Given the description of an element on the screen output the (x, y) to click on. 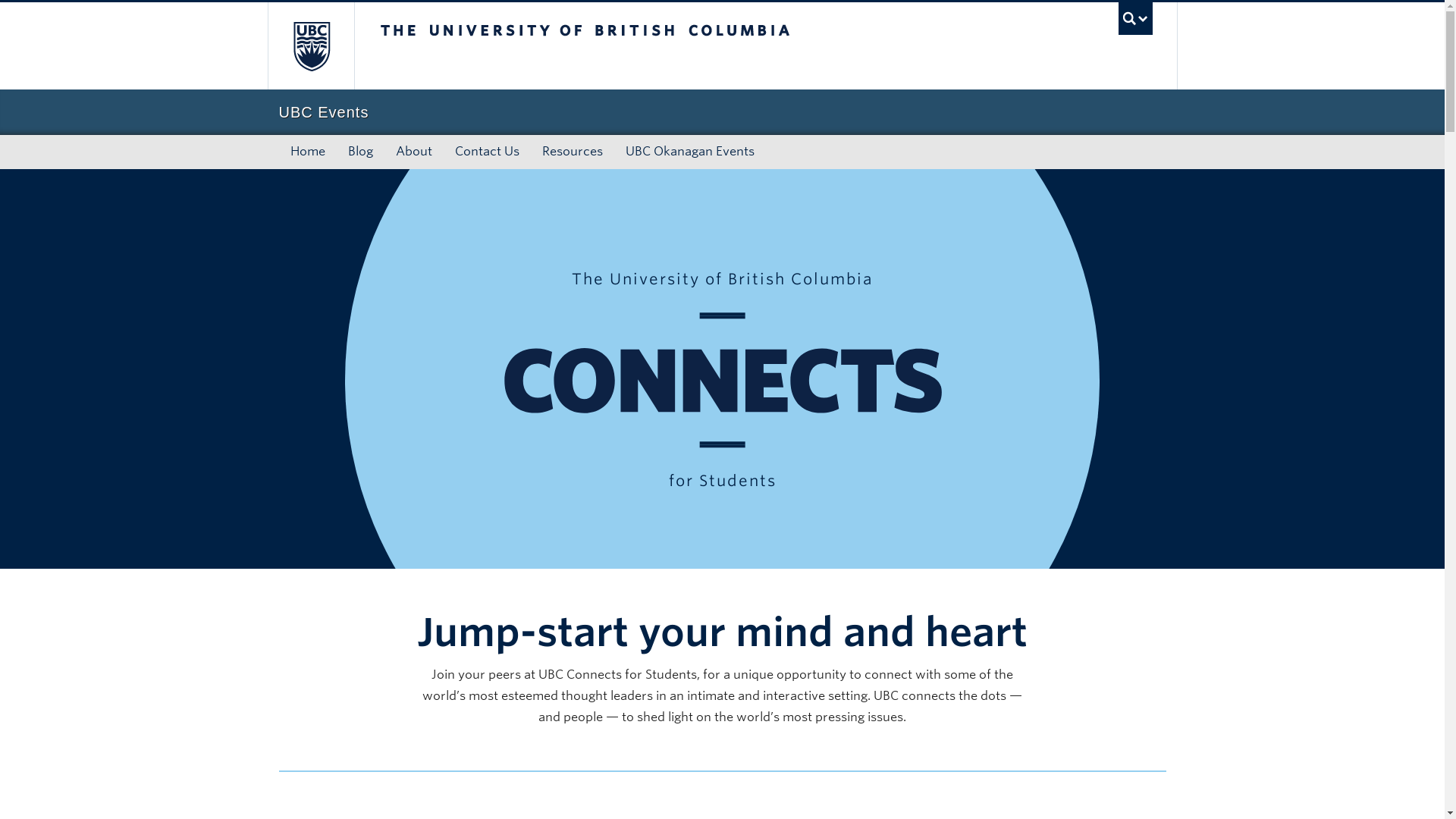
Contact Us (485, 151)
The University of British Columbia (309, 45)
The University of British Columbia (635, 45)
Resources (572, 151)
UBC Okanagan Events (689, 151)
UBC Search (1135, 18)
Home (307, 151)
UBC Events (722, 112)
About (413, 151)
UBC Events (722, 112)
